Given the description of an element on the screen output the (x, y) to click on. 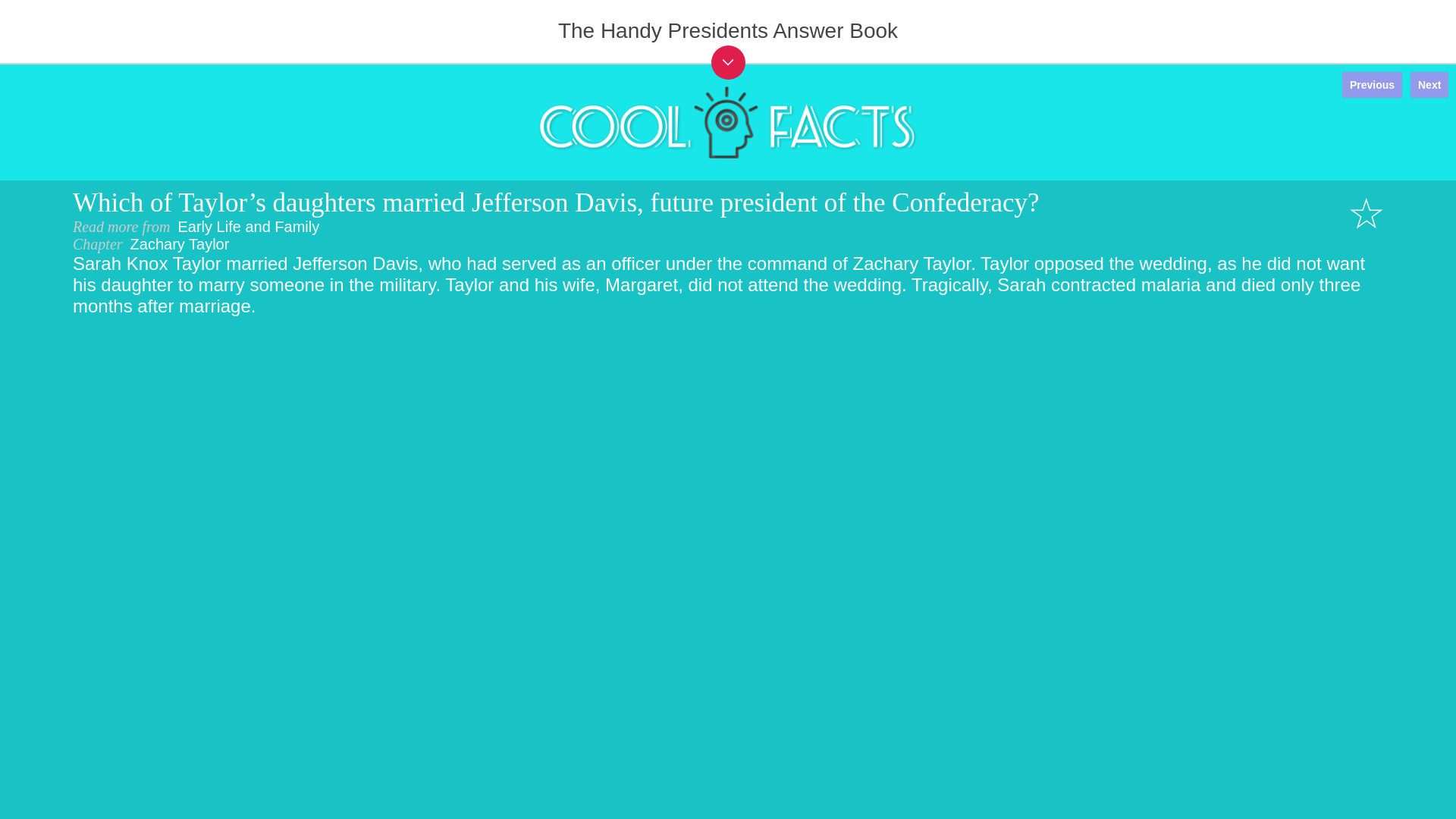
Next (1429, 84)
Previous (1372, 84)
